Given the description of an element on the screen output the (x, y) to click on. 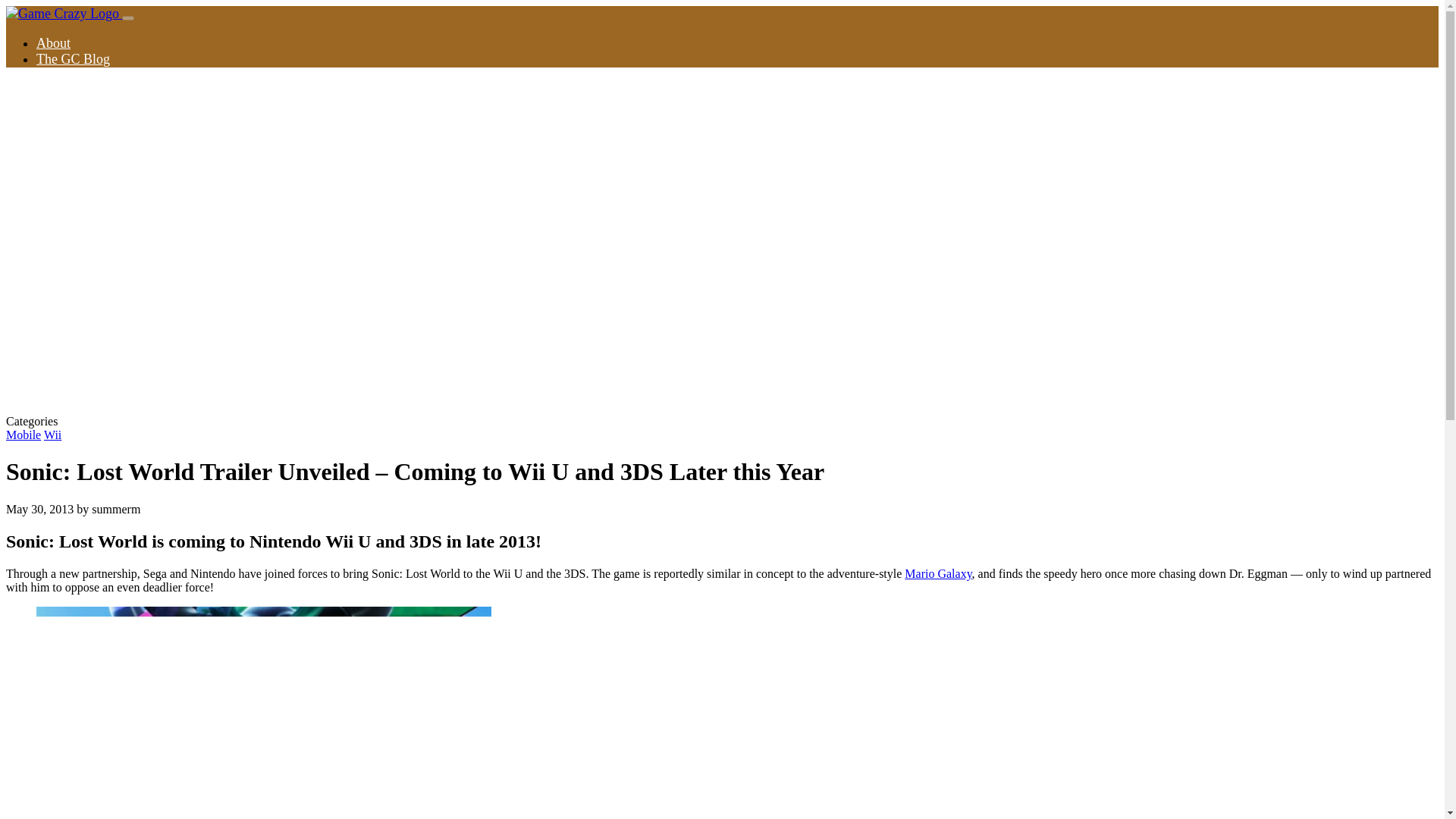
Mobile (22, 434)
Wii (52, 434)
Mario Galaxy (937, 573)
About (52, 43)
The GC Blog (73, 58)
